Given the description of an element on the screen output the (x, y) to click on. 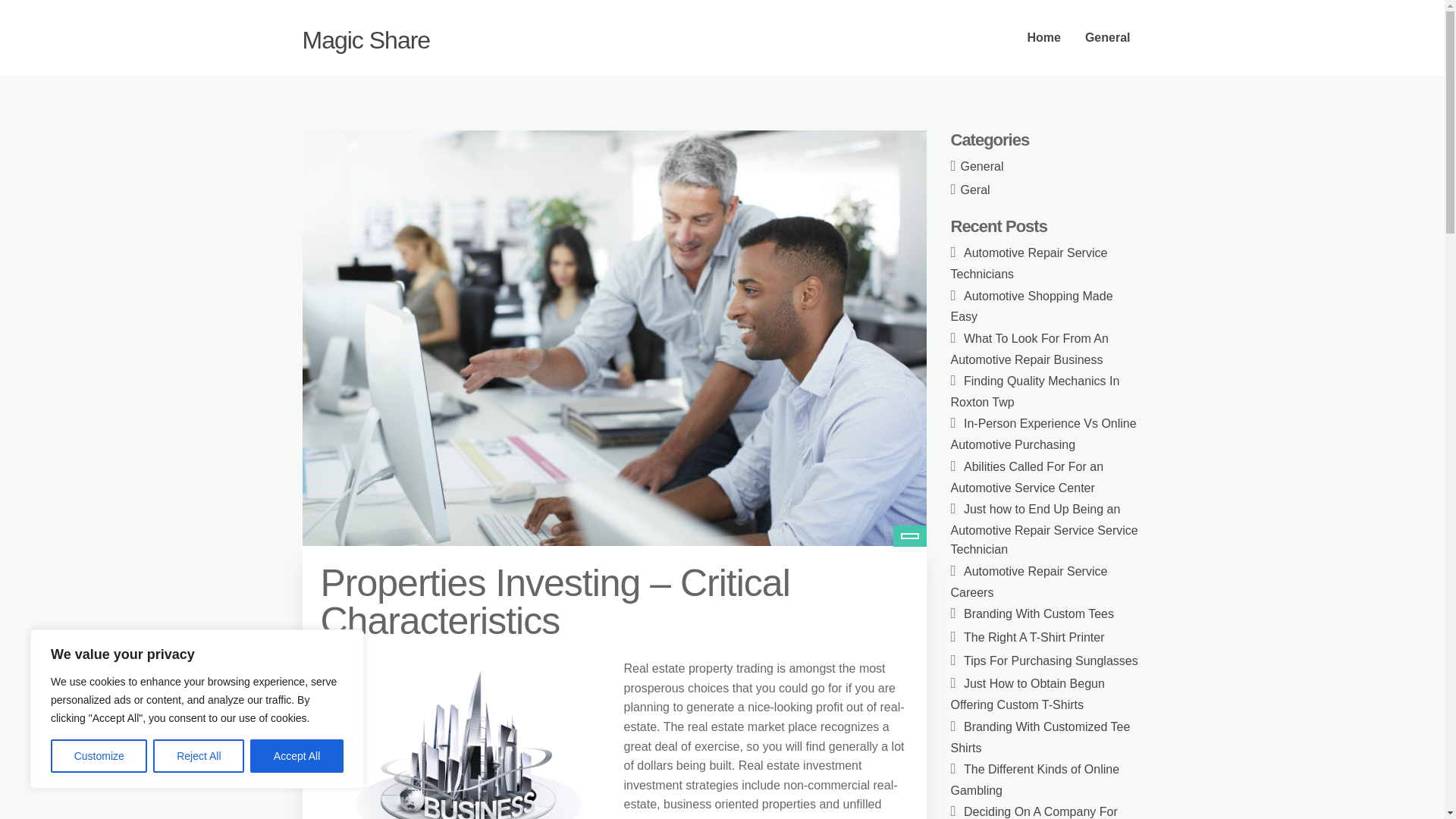
Customize (98, 756)
General (1107, 37)
What To Look For From An Automotive Repair Business (1029, 349)
Magic Share (365, 39)
General (982, 165)
Geral (975, 189)
Reject All (198, 756)
Automotive Repair Service Technicians (1029, 263)
Home (1042, 37)
Accept All (296, 756)
